Given the description of an element on the screen output the (x, y) to click on. 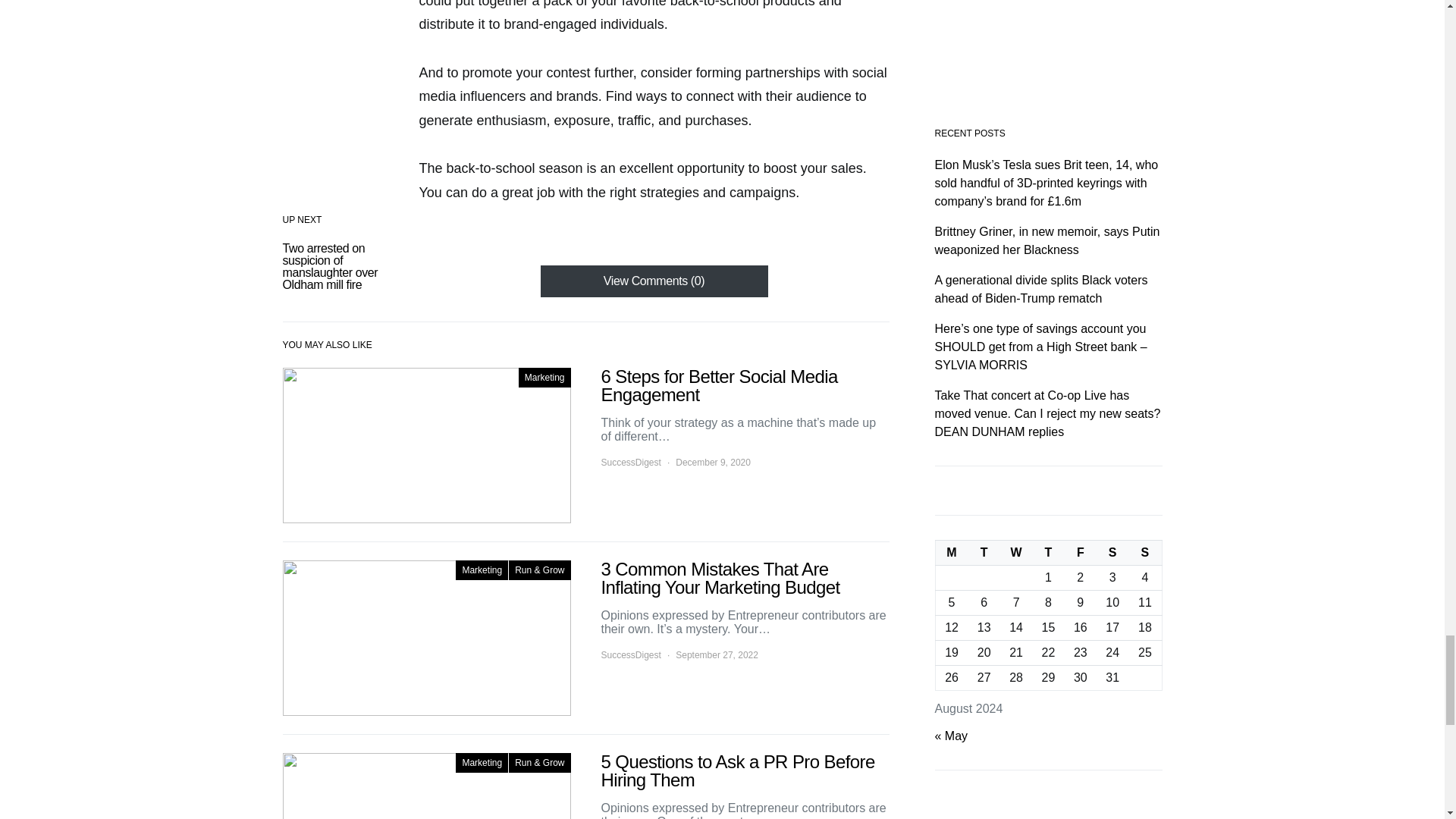
View all posts by SuccessDigest (630, 462)
View all posts by SuccessDigest (630, 654)
